Given the description of an element on the screen output the (x, y) to click on. 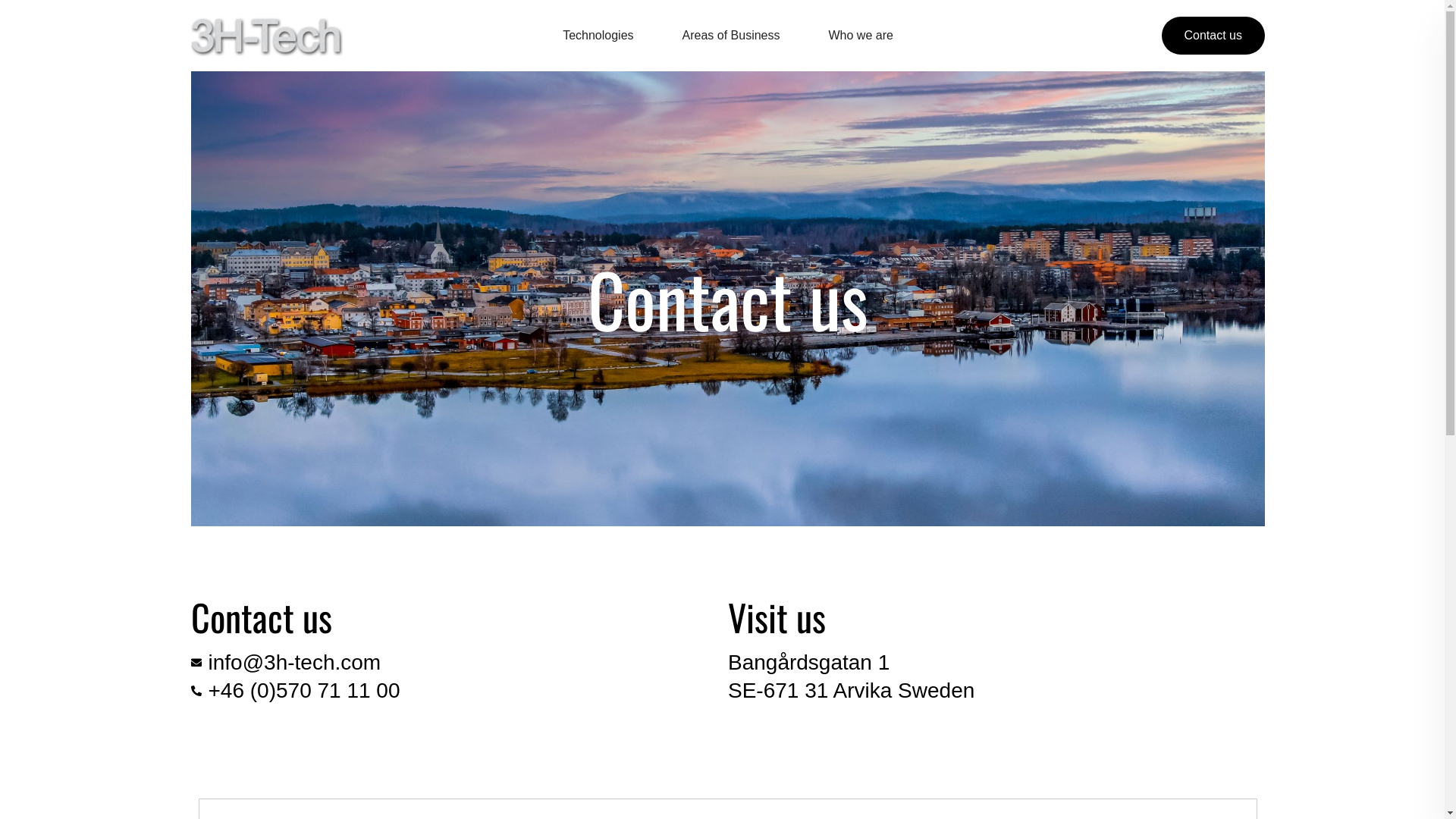
Technologies Element type: text (597, 34)
Contact us Element type: text (1212, 35)
Who we are Element type: text (860, 34)
Areas of Business Element type: text (731, 34)
